Given the description of an element on the screen output the (x, y) to click on. 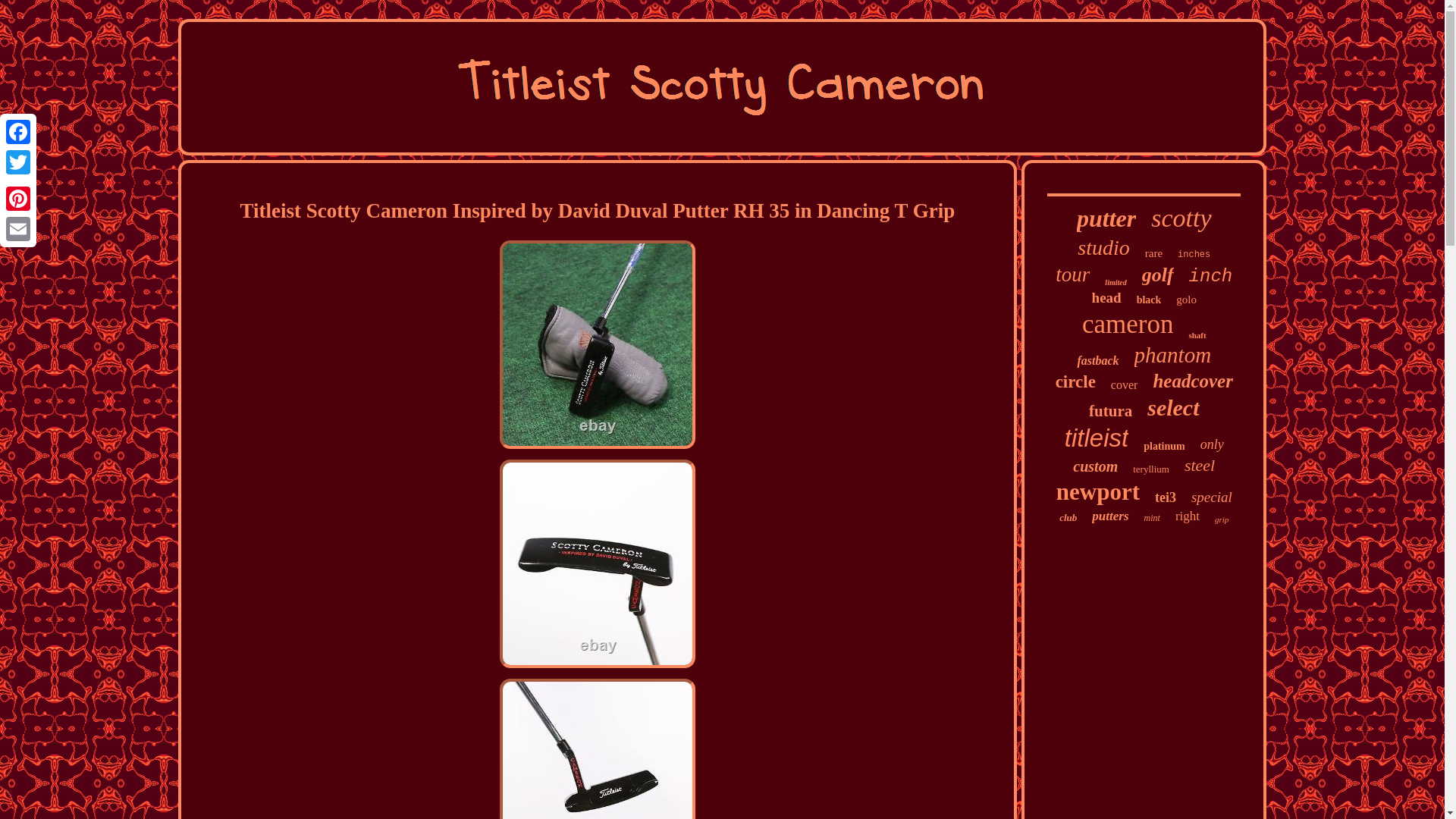
inches (1193, 254)
black (1149, 300)
Email (17, 228)
teryllium (1150, 469)
custom (1095, 466)
golf (1157, 274)
phantom (1172, 355)
shaft (1196, 334)
select (1172, 407)
only (1211, 444)
